Given the description of an element on the screen output the (x, y) to click on. 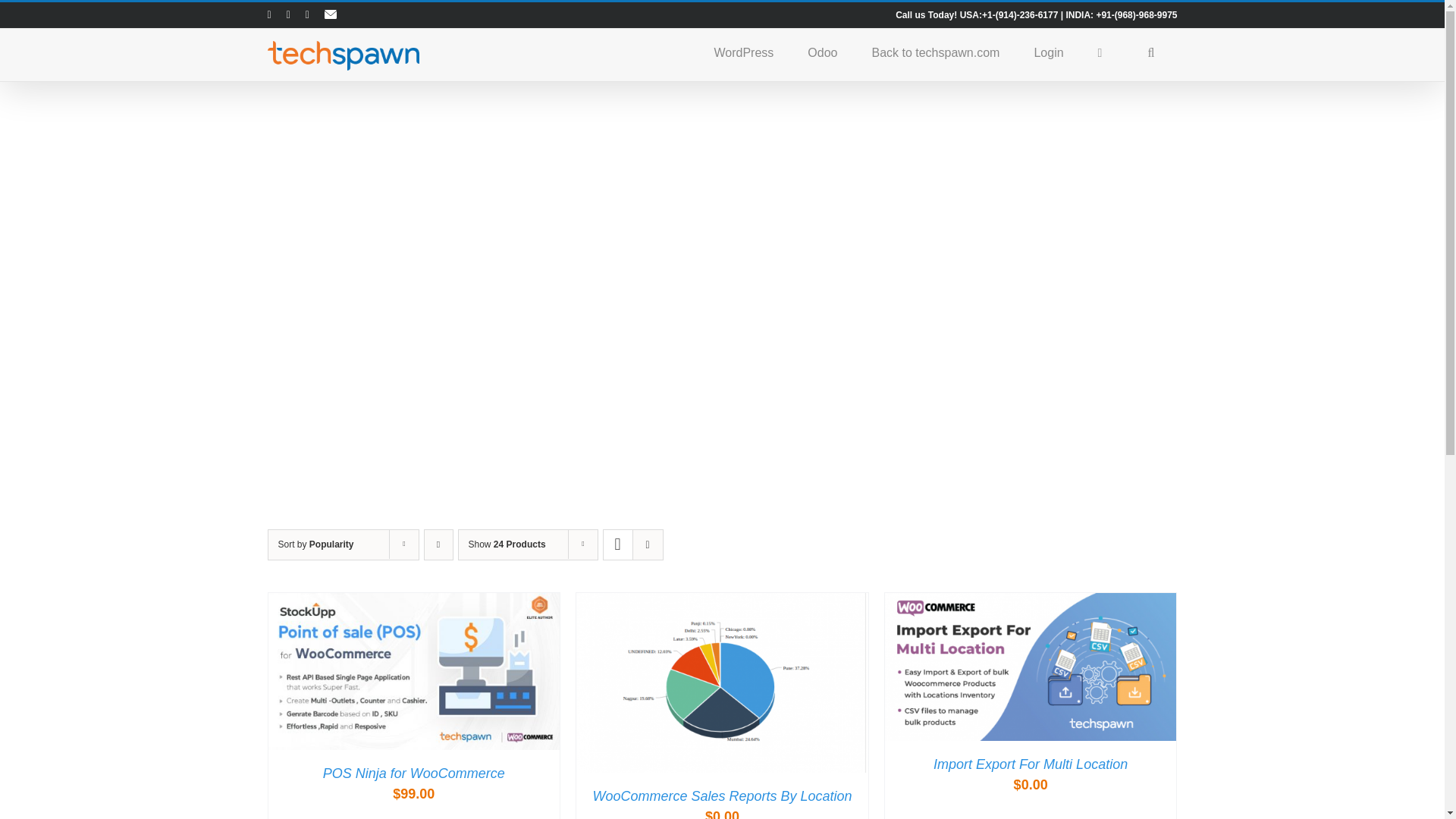
Show 24 Products (507, 543)
Email (330, 14)
Sort by Popularity (315, 543)
WordPress (743, 51)
Email (330, 14)
Back to techspawn.com (934, 51)
